Given the description of an element on the screen output the (x, y) to click on. 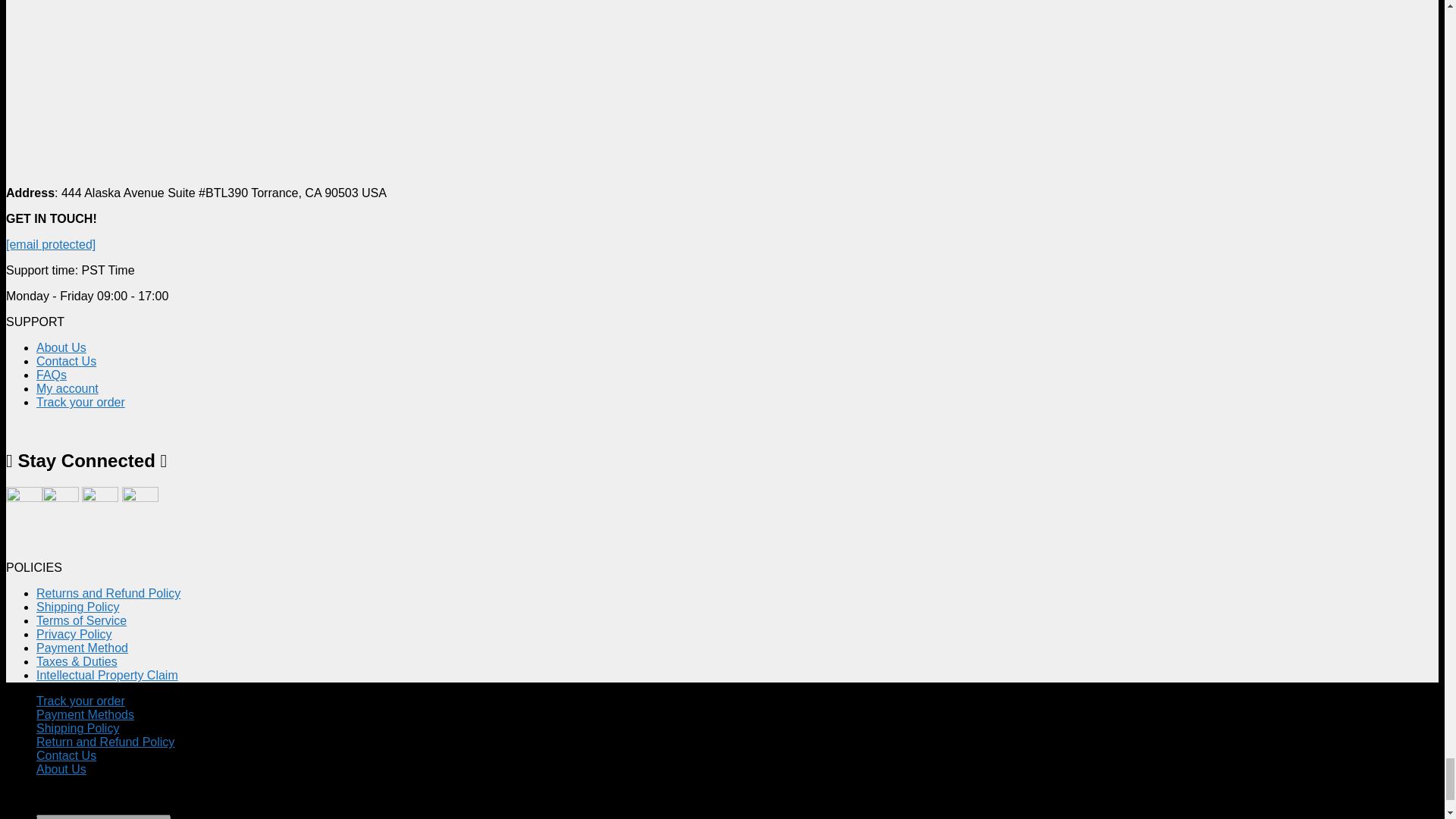
FAQs (51, 374)
Track your order (80, 401)
Contact Us (66, 360)
About Us (60, 347)
My account (67, 388)
